Given the description of an element on the screen output the (x, y) to click on. 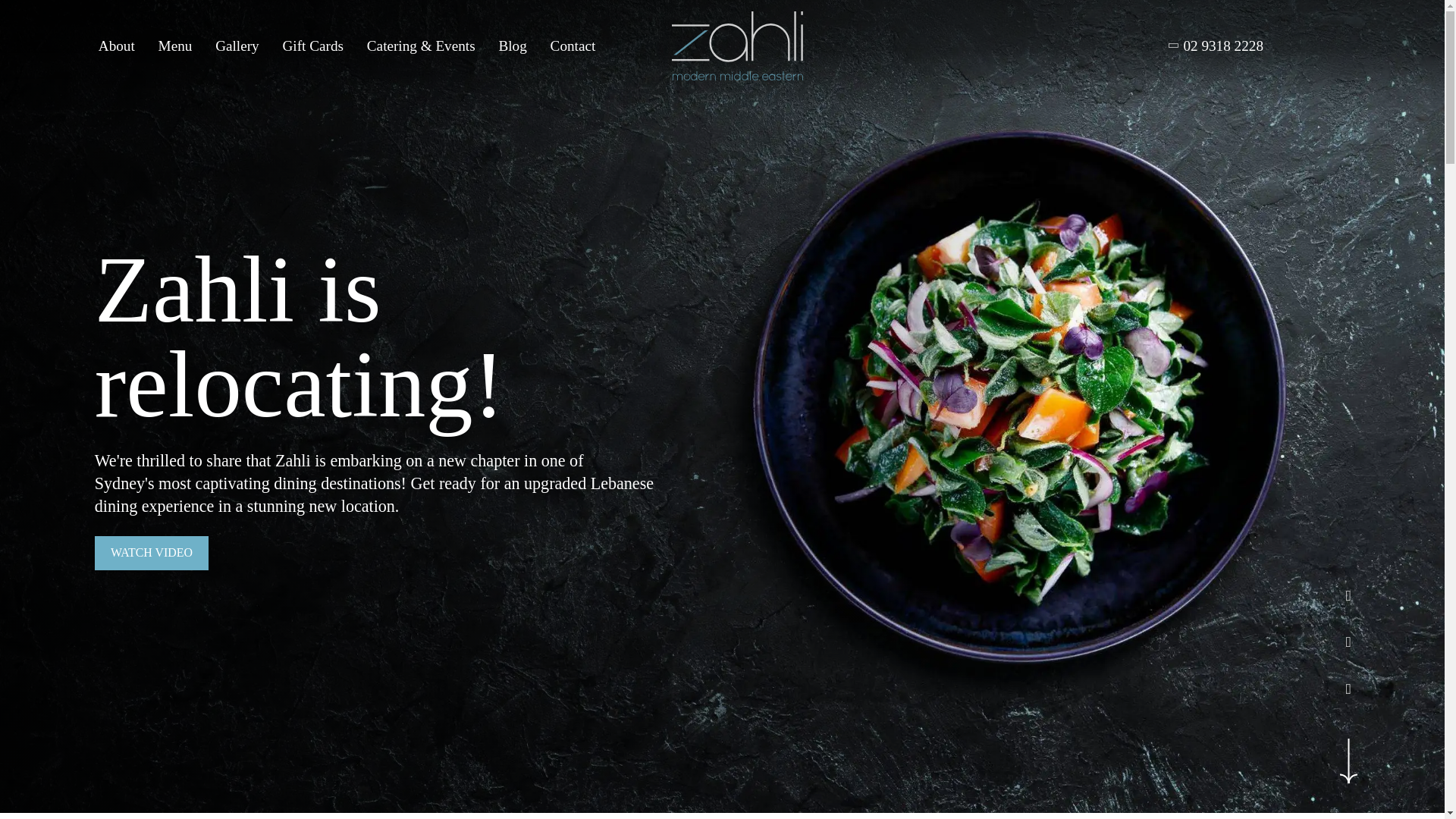
WATCH VIDEO (151, 553)
Contact (572, 45)
Menu (175, 45)
02 9318 2228 (1216, 45)
Gift Cards (312, 45)
Blog (511, 45)
About (117, 45)
Gallery (237, 45)
